Given the description of an element on the screen output the (x, y) to click on. 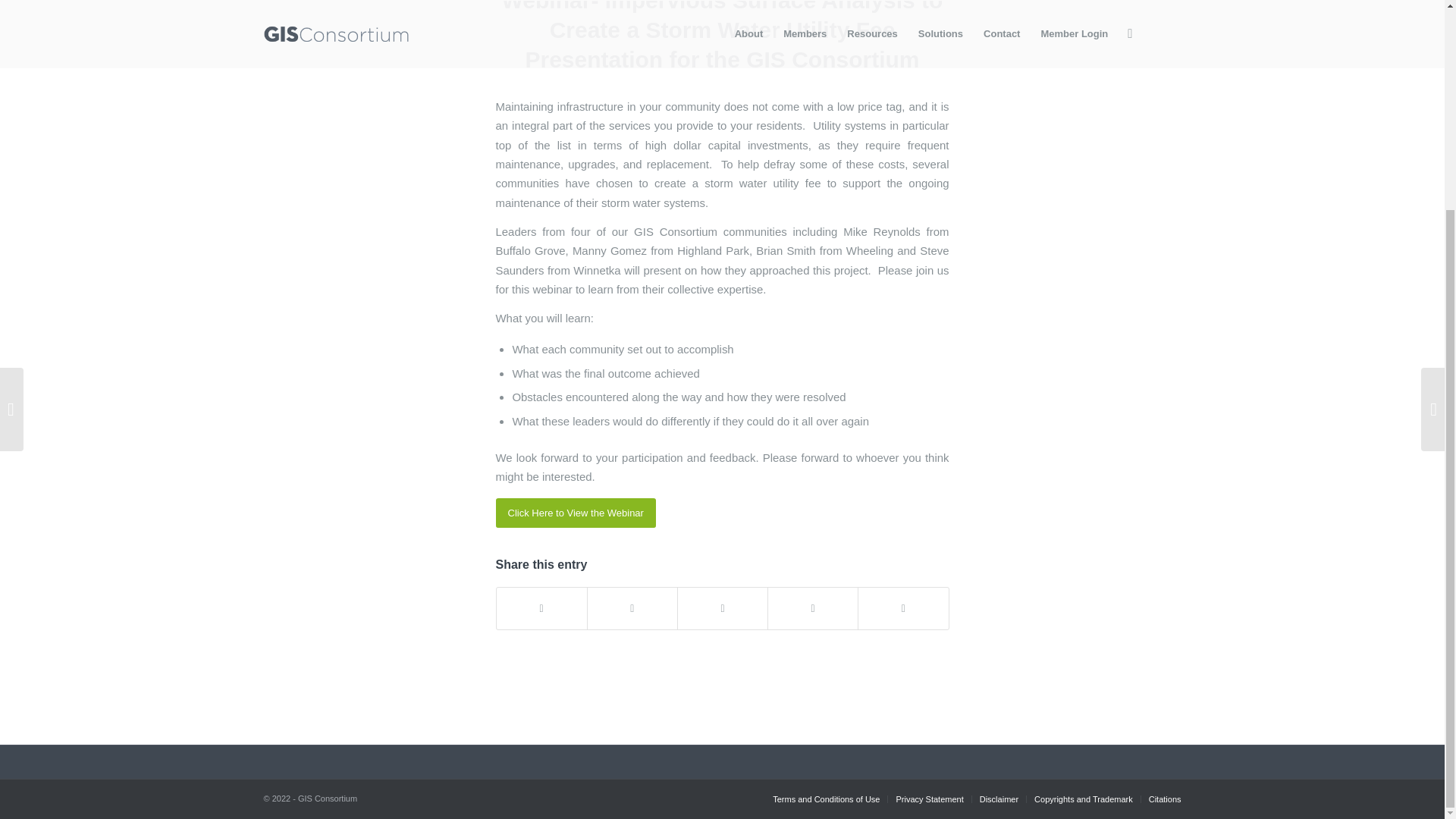
Terms and Conditions of Use (826, 798)
Disclaimer (998, 798)
Click Here to View the Webinar (576, 512)
Privacy Statement (928, 798)
Citations (1164, 798)
Copyrights and Trademark (1082, 798)
